Given the description of an element on the screen output the (x, y) to click on. 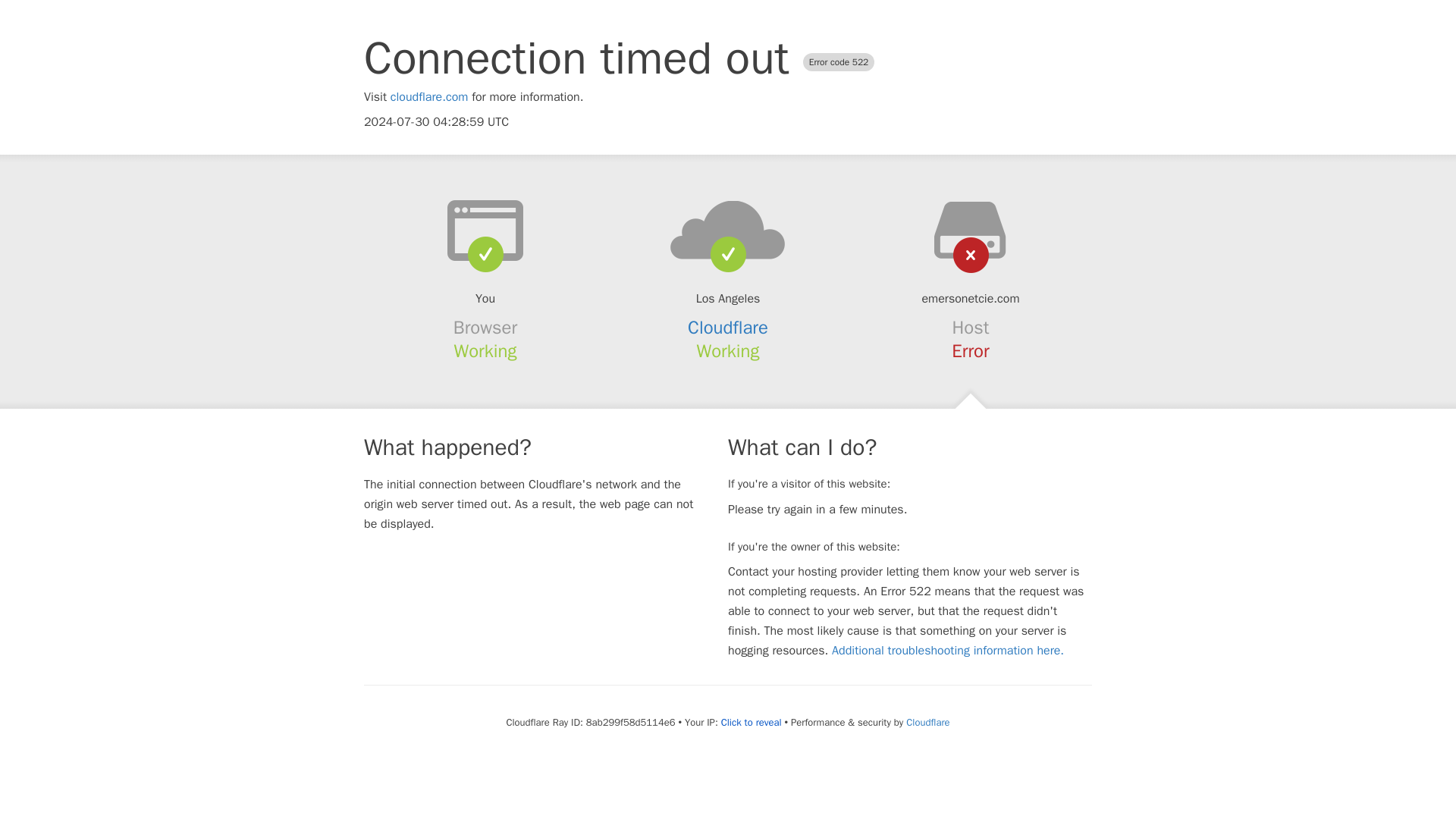
Click to reveal (750, 722)
Cloudflare (727, 327)
cloudflare.com (429, 96)
Cloudflare (927, 721)
Additional troubleshooting information here. (947, 650)
